Given the description of an element on the screen output the (x, y) to click on. 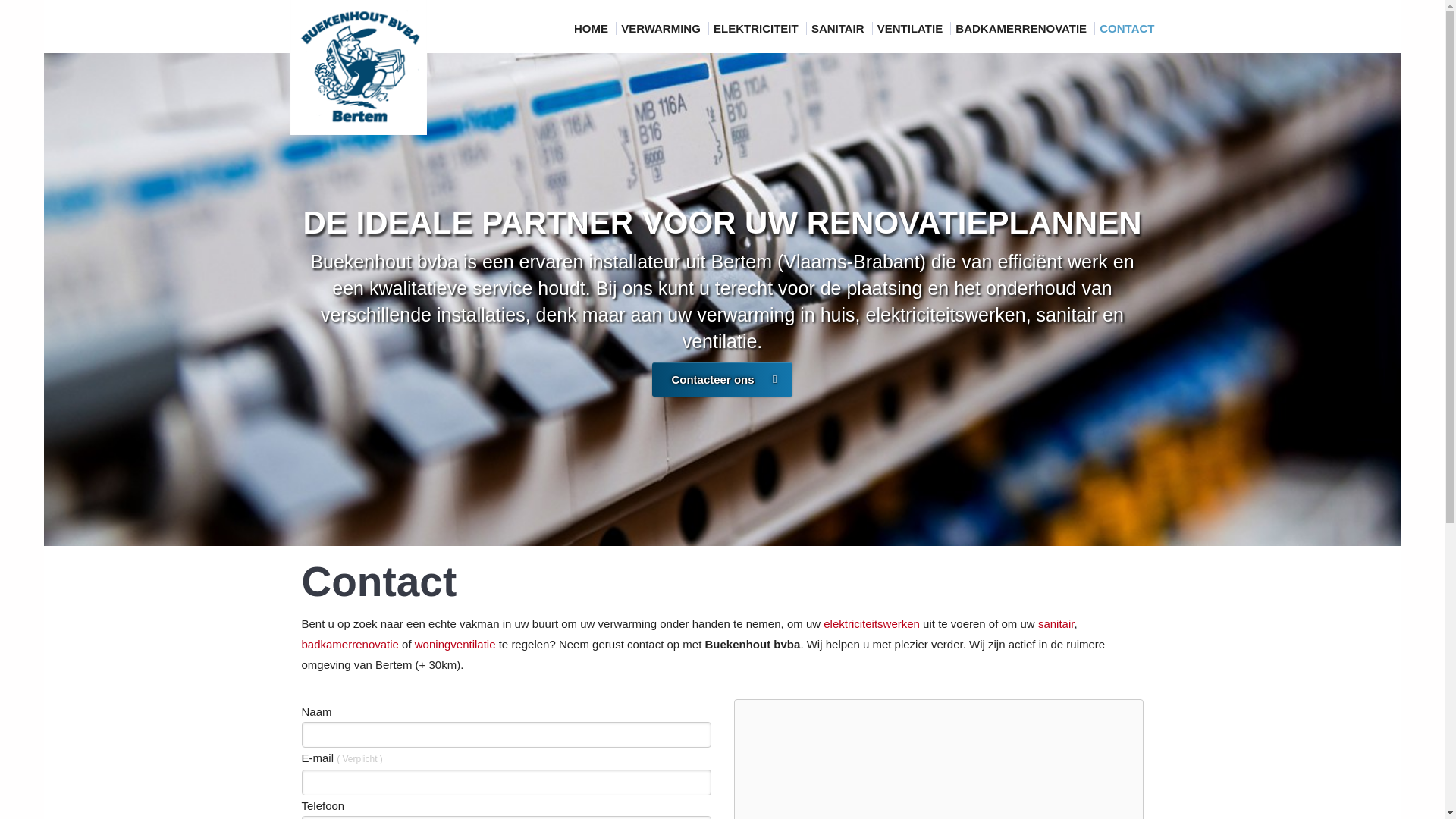
CONTACT Element type: text (1126, 27)
badkamerrenovatie Element type: text (349, 643)
elektriciteitswerken Element type: text (871, 623)
HOME Element type: text (592, 27)
BADKAMERRENOVATIE Element type: text (1022, 27)
SANITAIR Element type: text (839, 27)
VERWARMING Element type: text (662, 27)
woningventilatie Element type: text (454, 643)
VENTILATIE Element type: text (911, 27)
Contacteer ons Element type: text (721, 379)
sanitair Element type: text (1056, 623)
ELEKTRICITEIT Element type: text (757, 27)
